Given the description of an element on the screen output the (x, y) to click on. 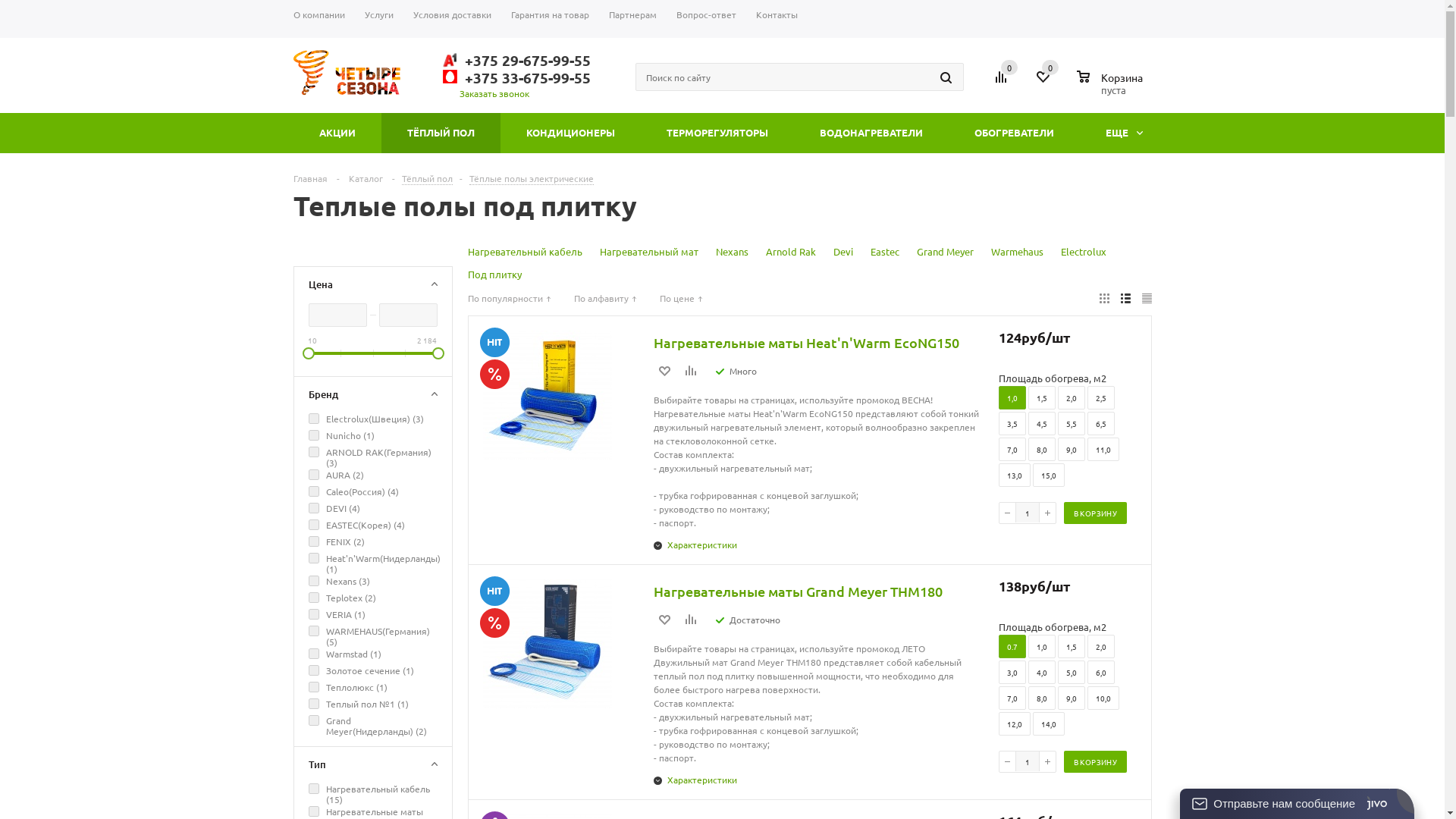
Grand Meyer Element type: text (944, 251)
Eastec Element type: text (884, 251)
  +375 29-675-99-55 Element type: text (522, 59)
  +375 33-675-99-55 Element type: text (522, 77)
0 Element type: text (1009, 66)
Arnold Rak Element type: text (790, 251)
Nexans Element type: text (731, 251)
Devi Element type: text (842, 251)
Electrolux Element type: text (1082, 251)
Warmehaus Element type: text (1016, 251)
Y Element type: text (4, 4)
